Given the description of an element on the screen output the (x, y) to click on. 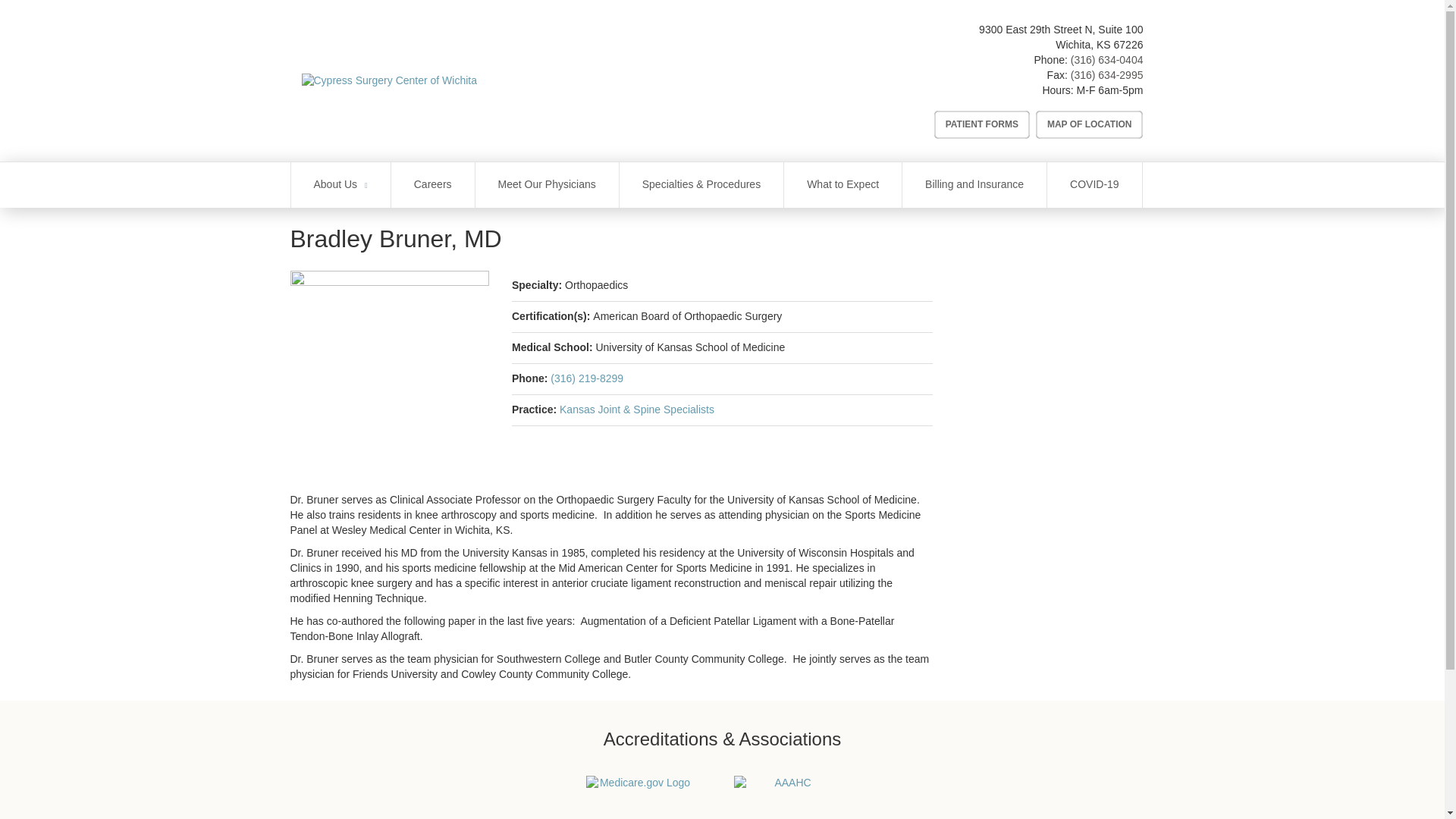
Careers (432, 185)
What to Expect (842, 185)
Meet Our Physicians (547, 185)
Billing and Insurance (974, 185)
MAP OF LOCATION (1088, 124)
Billing and Insurance (974, 185)
PATIENT FORMS (981, 124)
About Us (340, 185)
Home (542, 80)
COVID-19 (1093, 185)
